Given the description of an element on the screen output the (x, y) to click on. 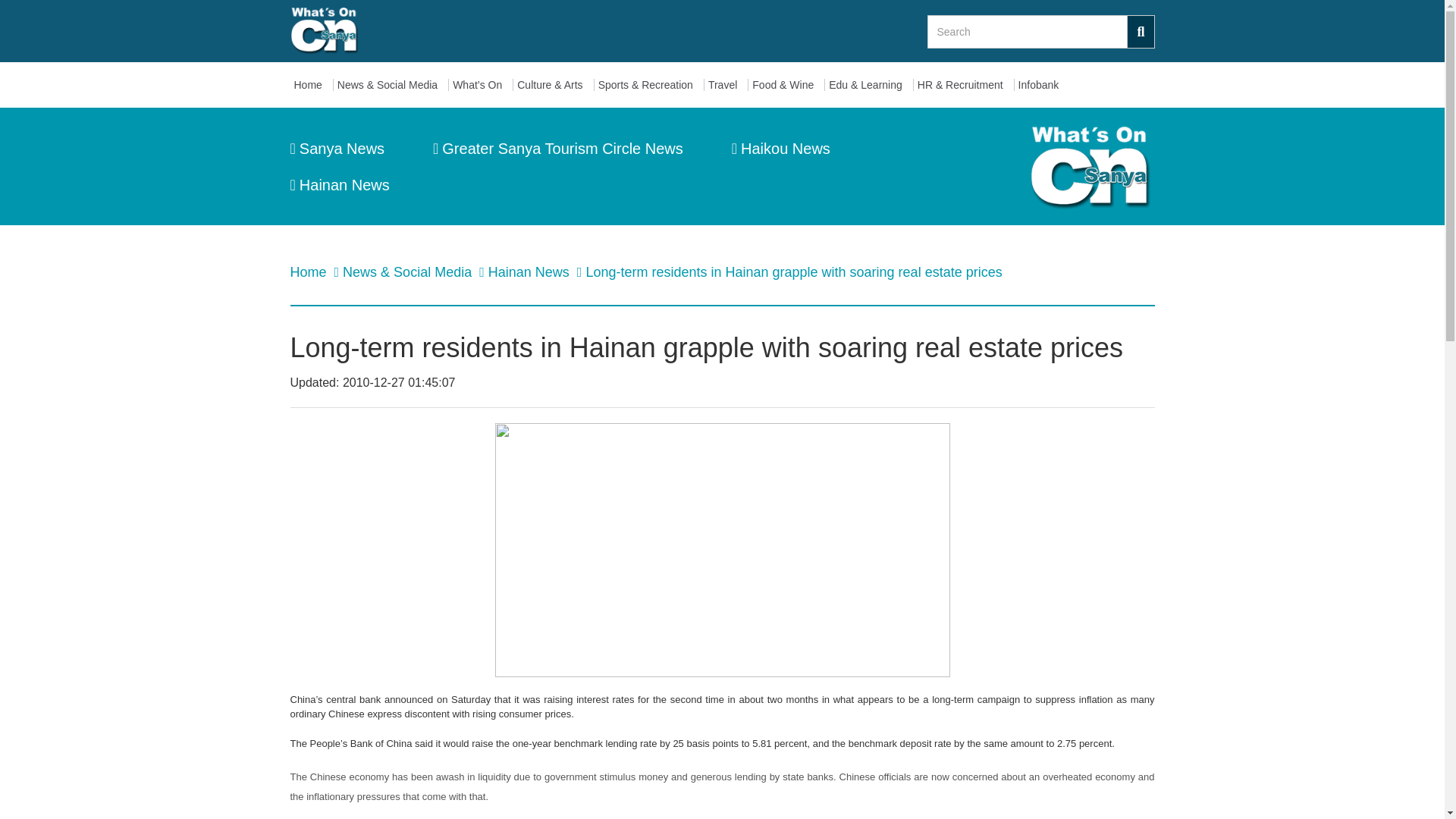
Sanya News (336, 148)
Travel (726, 84)
Home (309, 272)
Infobank (1042, 84)
Home (311, 84)
Haikou News (780, 148)
Hainan News (530, 272)
Greater Sanya Tourism Circle News (557, 148)
Hainan News (338, 184)
